Given the description of an element on the screen output the (x, y) to click on. 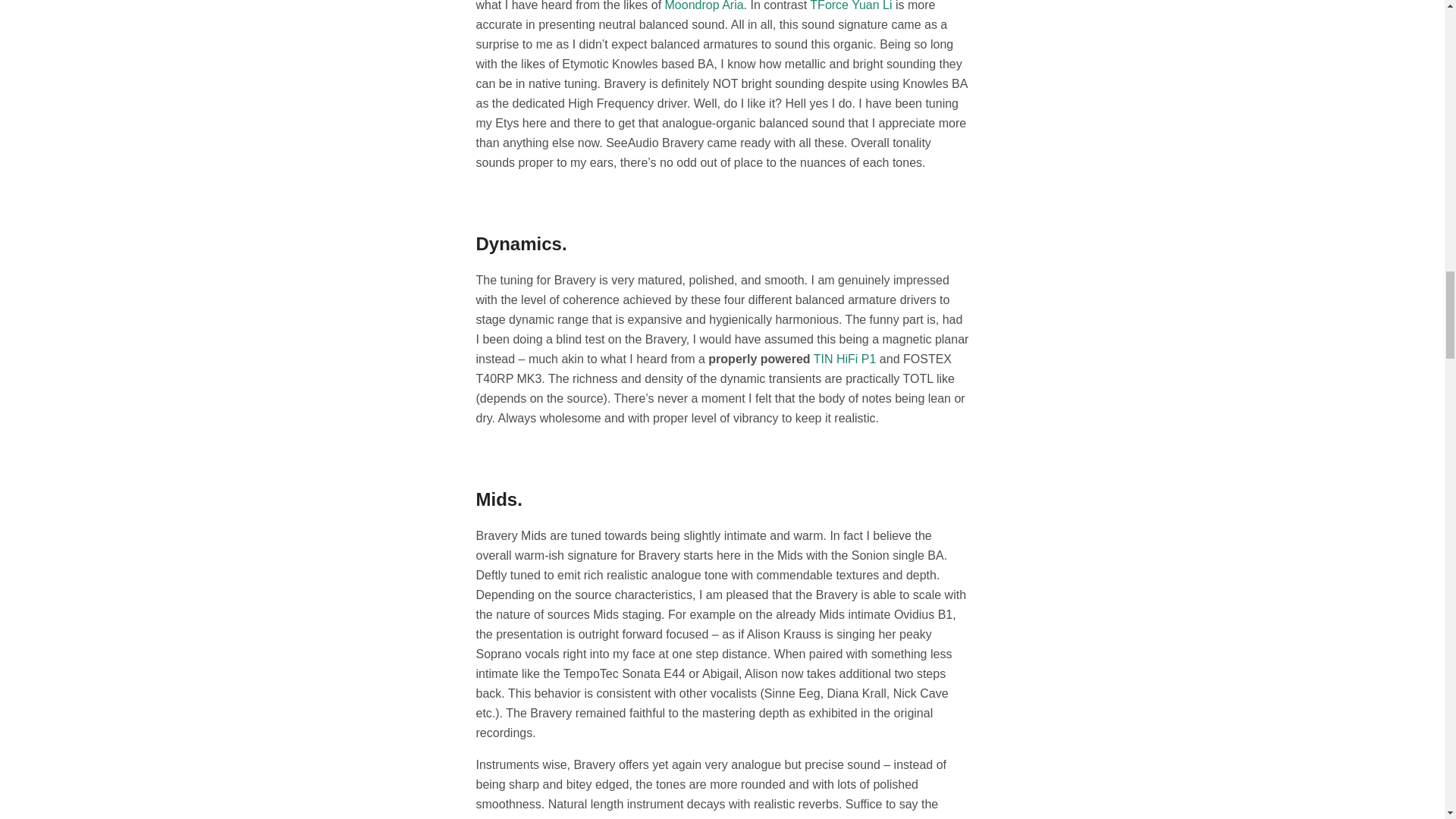
Moondrop Aria (704, 5)
Tforce Yuanli (850, 5)
